Given the description of an element on the screen output the (x, y) to click on. 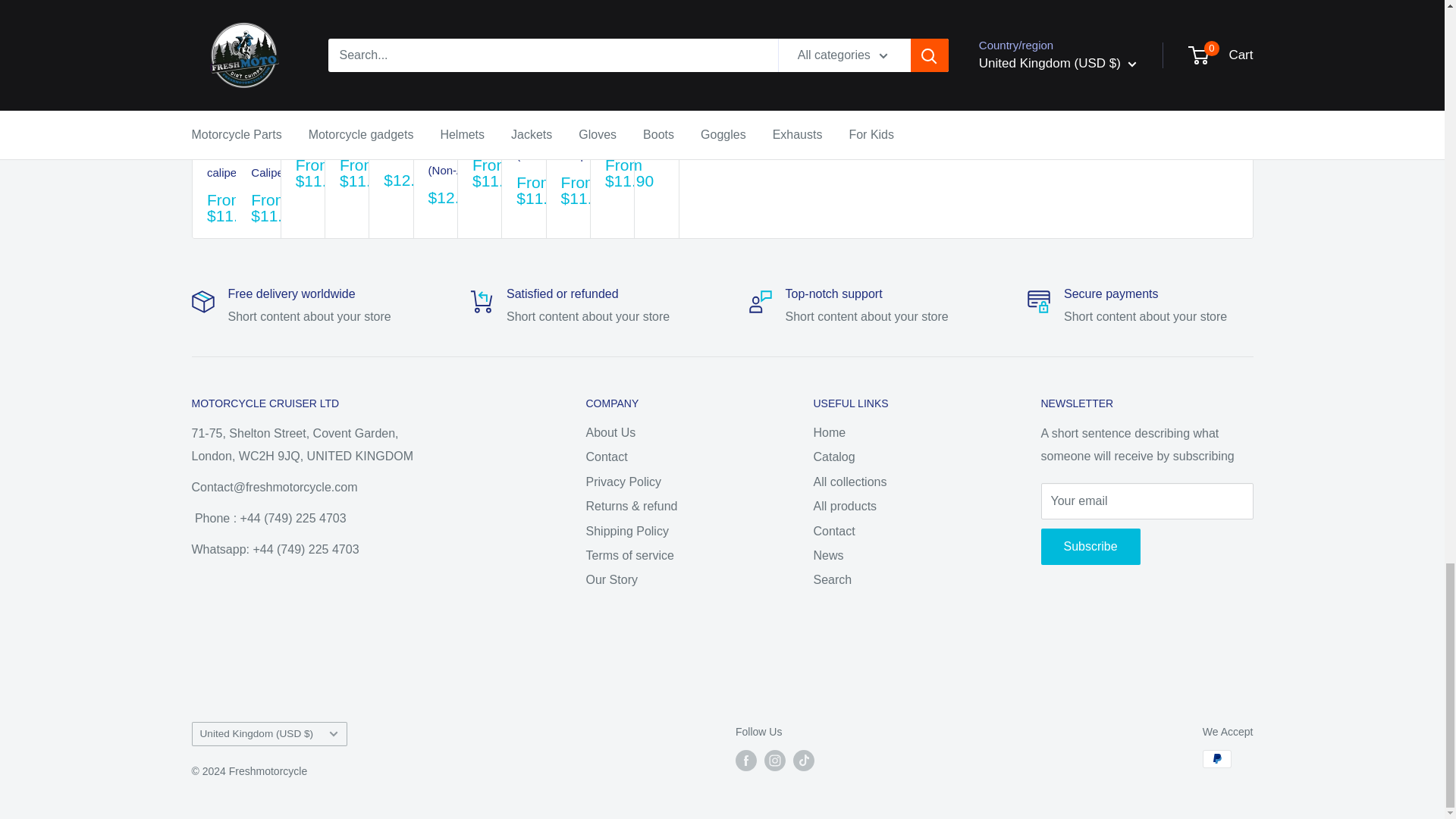
Advertisement (721, 657)
Advertisement (987, 67)
